Given the description of an element on the screen output the (x, y) to click on. 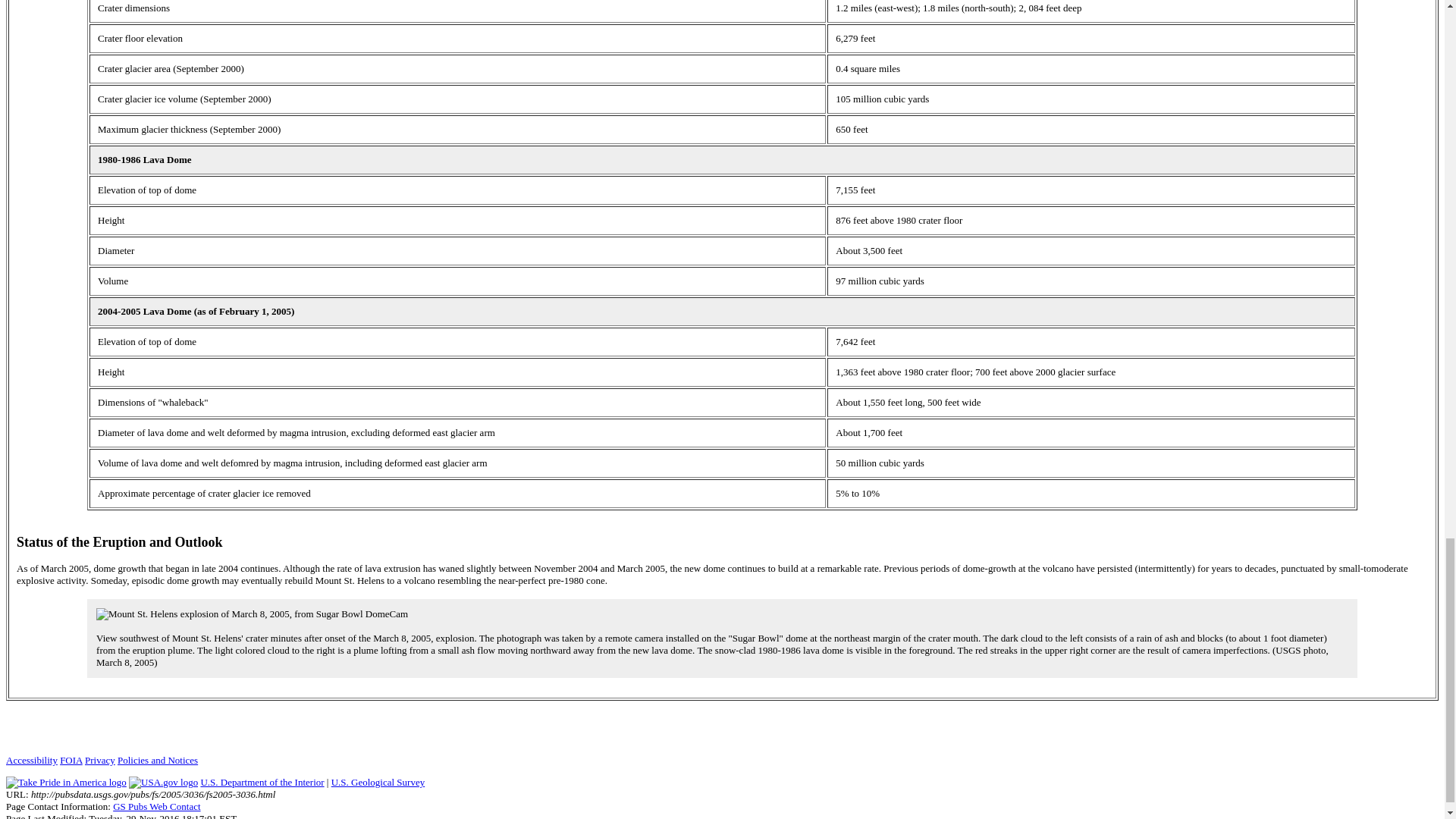
FOIA (70, 759)
USAGov: Government Made Easy (163, 782)
U.S. Geological Survey (378, 781)
U.S. Department of the Interior (261, 781)
Accessibility (31, 759)
Take Pride in America Home Page (65, 782)
Privacy (99, 759)
Privacy policies of the U.S. Geological Survey. (99, 759)
U.S. Geological Survey (378, 781)
Policies and Notices (157, 759)
Freedom of Information Act (70, 759)
GS Pubs Web Contact (156, 806)
U.S. Department of the Interior (261, 781)
